Given the description of an element on the screen output the (x, y) to click on. 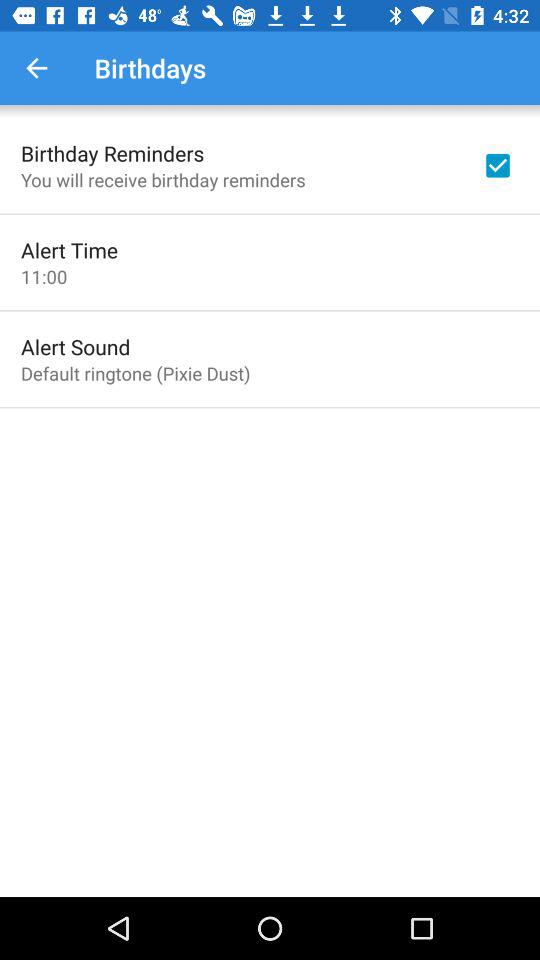
choose the icon below 11:00 (75, 346)
